Given the description of an element on the screen output the (x, y) to click on. 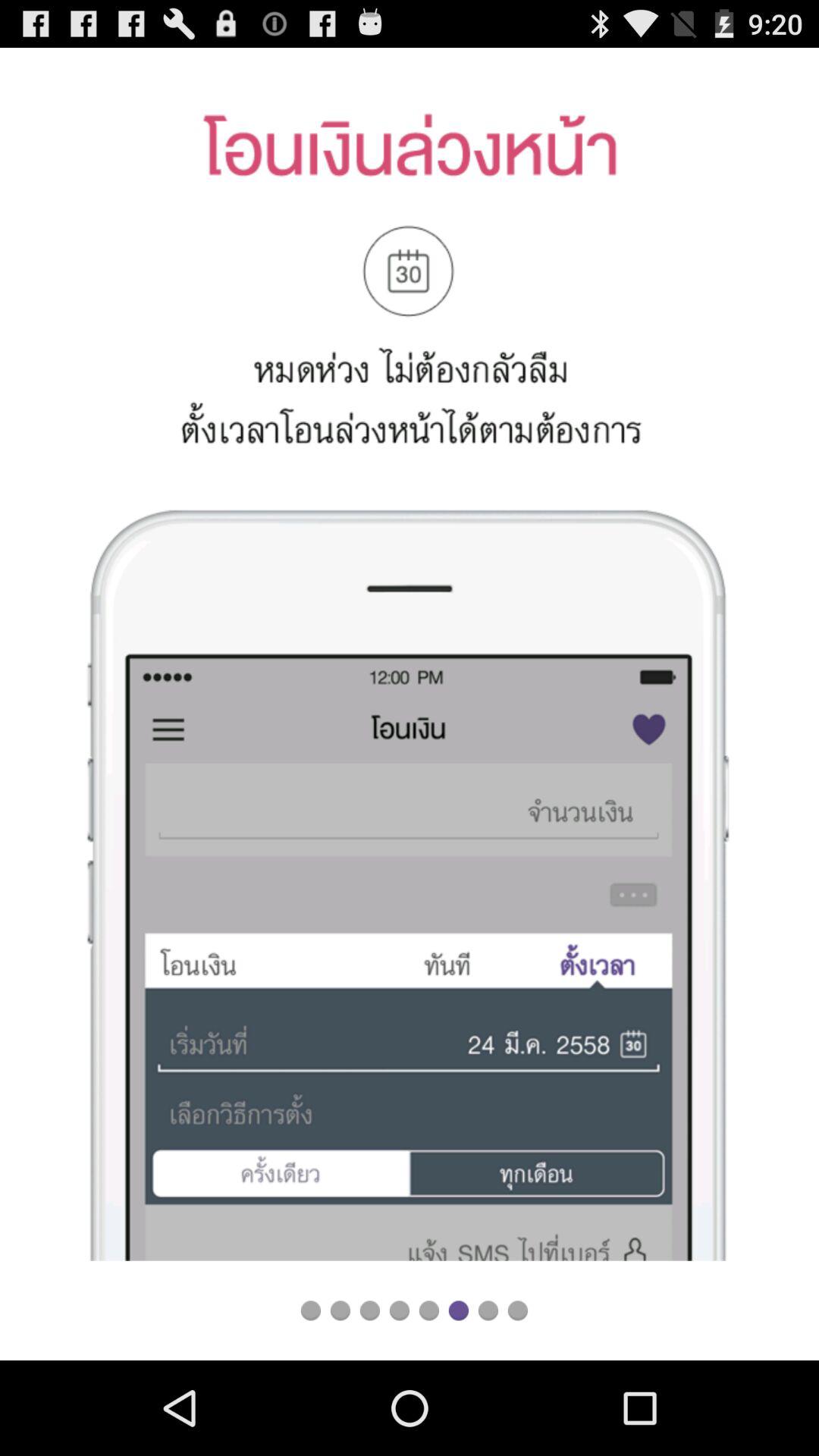
go back (399, 1310)
